Given the description of an element on the screen output the (x, y) to click on. 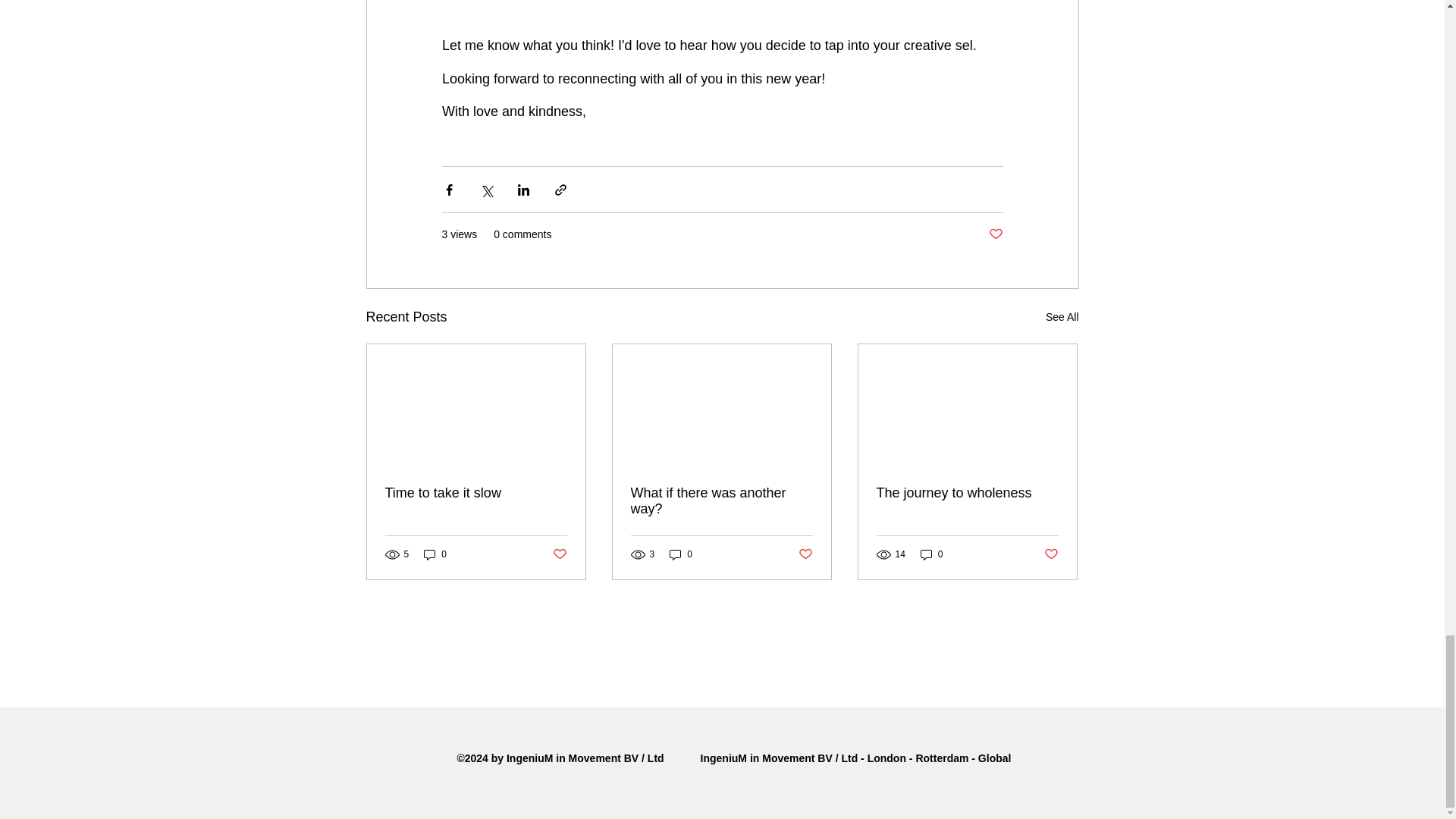
Post not marked as liked (995, 234)
See All (1061, 317)
